Given the description of an element on the screen output the (x, y) to click on. 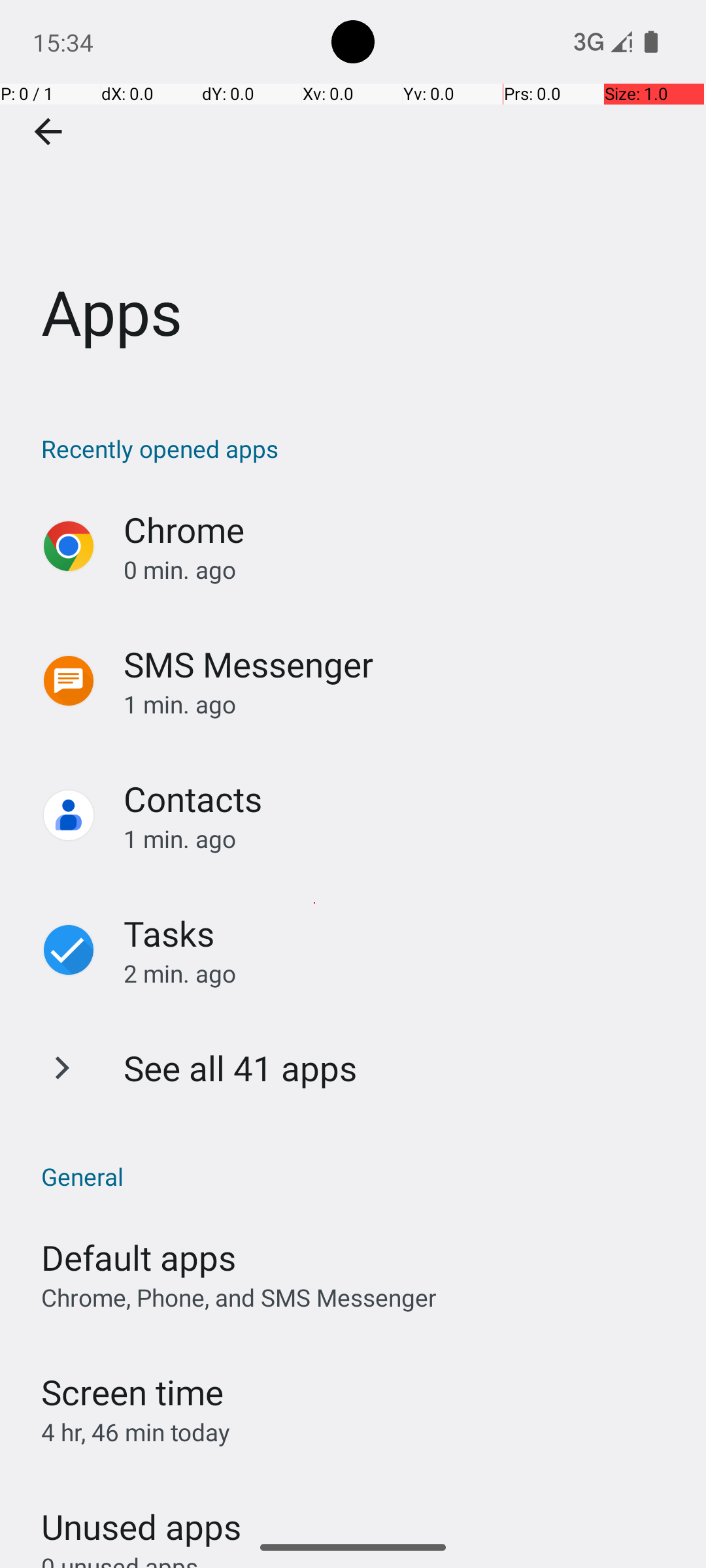
Apps Element type: android.widget.FrameLayout (353, 195)
Recently opened apps Element type: android.widget.TextView (359, 448)
0 min. ago Element type: android.widget.TextView (400, 569)
1 min. ago Element type: android.widget.TextView (400, 703)
2 min. ago Element type: android.widget.TextView (400, 972)
See all 41 apps Element type: android.widget.TextView (239, 1067)
General Element type: android.widget.TextView (359, 1175)
Default apps Element type: android.widget.TextView (138, 1257)
Chrome, Phone, and SMS Messenger Element type: android.widget.TextView (238, 1296)
Screen time Element type: android.widget.TextView (132, 1391)
4 hr, 46 min today Element type: android.widget.TextView (135, 1431)
Unused apps Element type: android.widget.TextView (141, 1514)
